Given the description of an element on the screen output the (x, y) to click on. 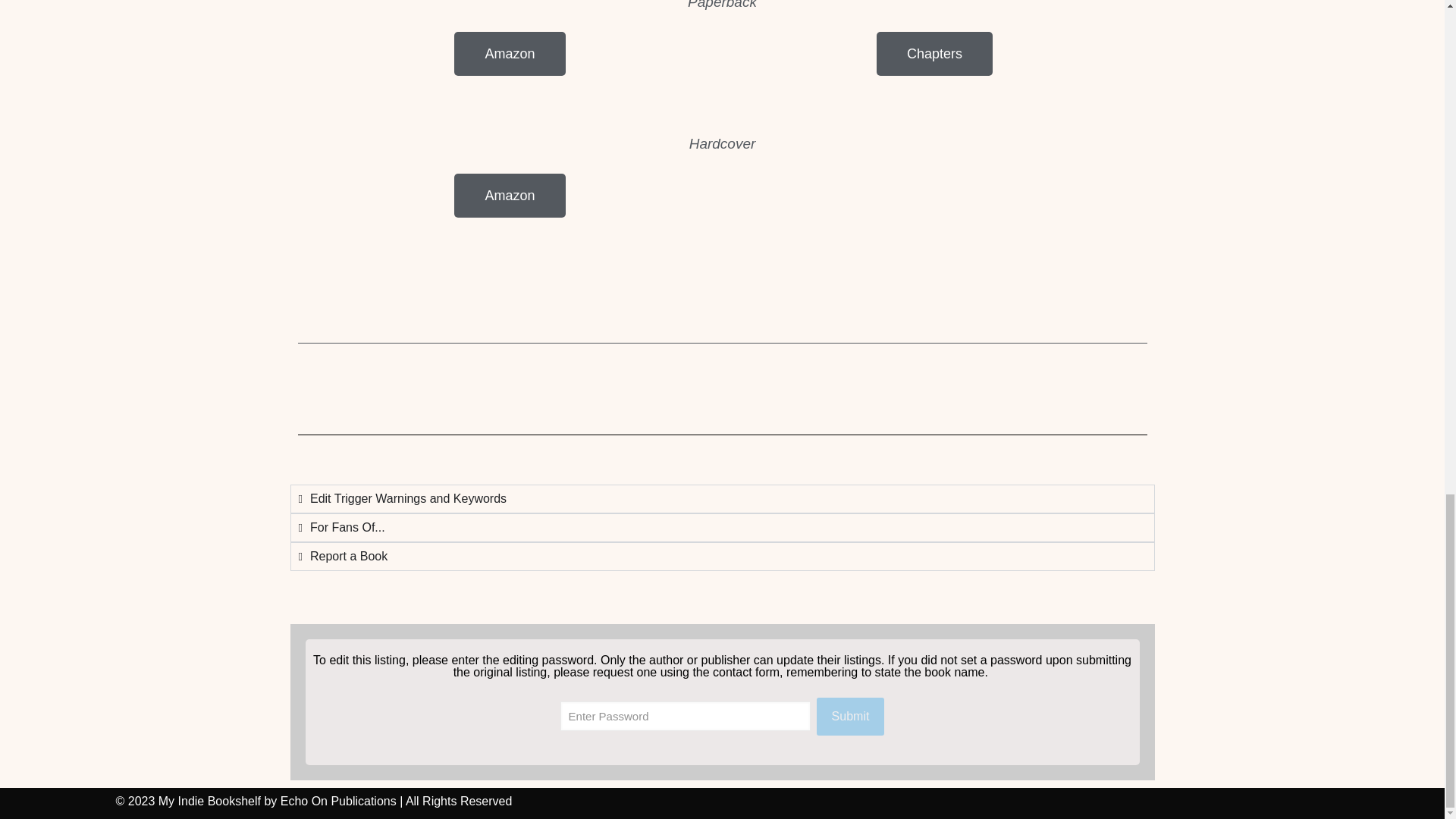
Submit (850, 715)
Amazon (509, 53)
